Given the description of an element on the screen output the (x, y) to click on. 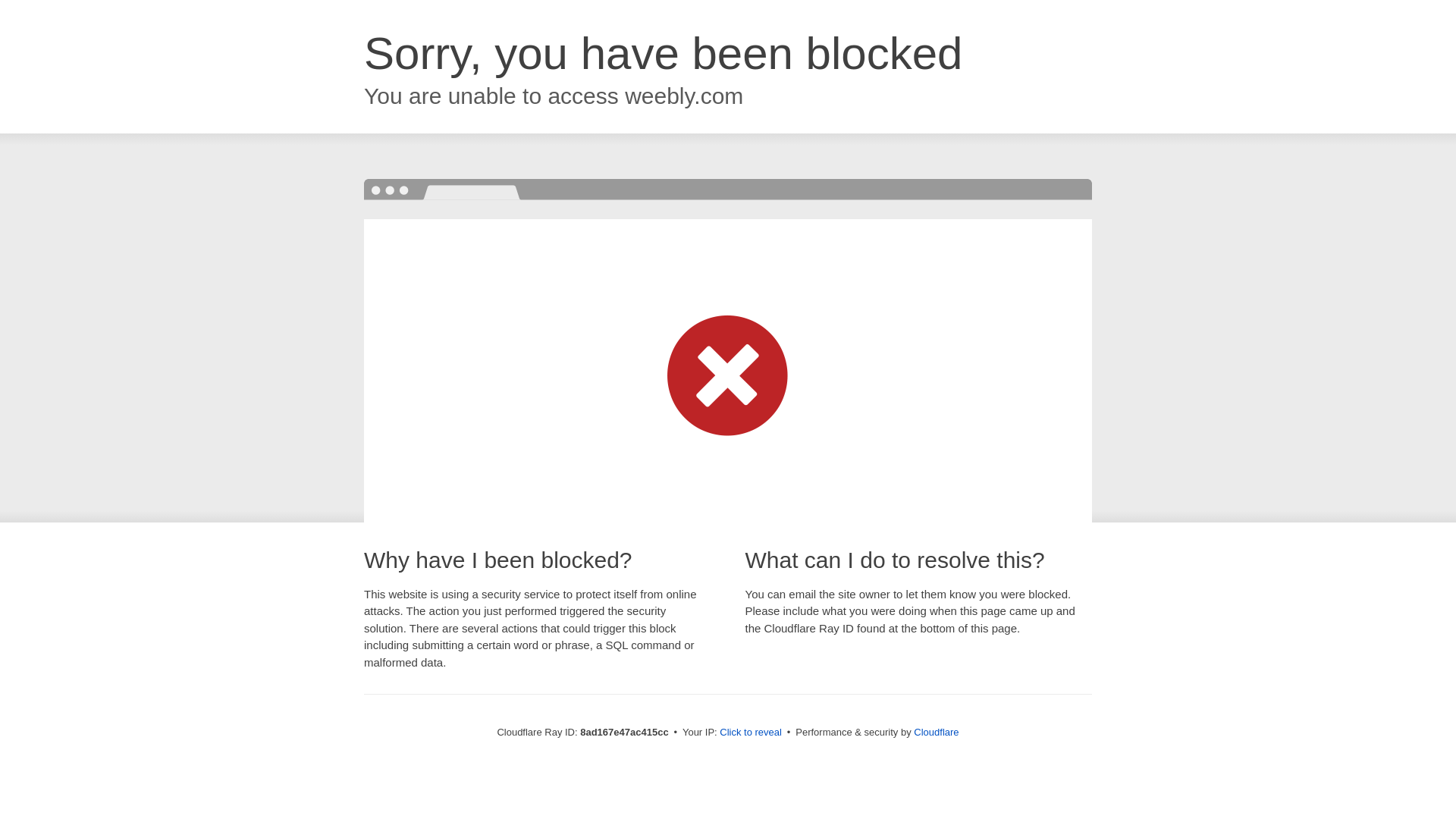
Cloudflare (936, 731)
Click to reveal (750, 732)
